Given the description of an element on the screen output the (x, y) to click on. 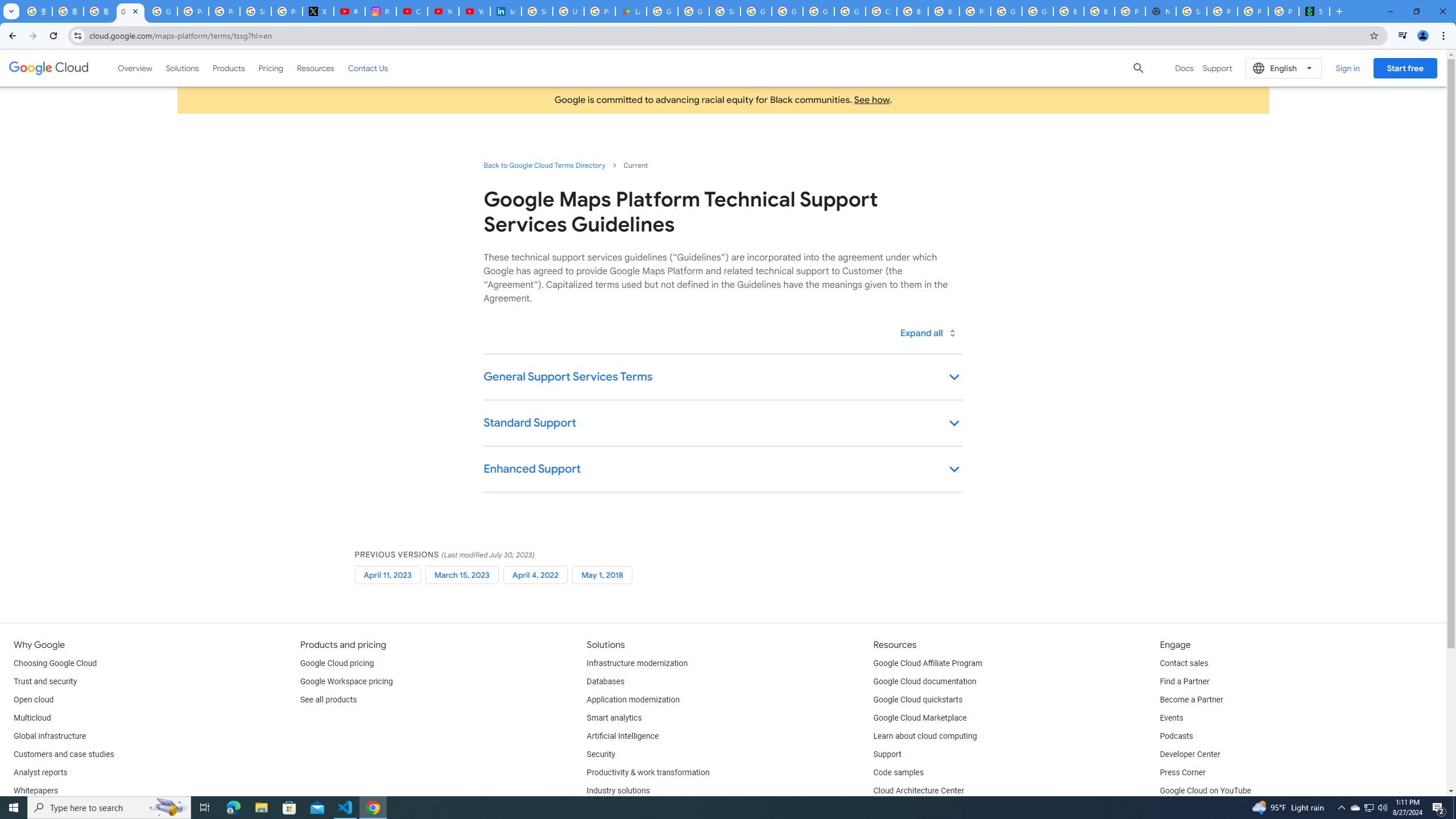
Sign in - Google Accounts (1190, 11)
May 1, 2018 (601, 574)
Whitepapers (35, 791)
Productivity & work transformation (648, 773)
Support (887, 754)
Control your music, videos, and more (1402, 35)
Application modernization (632, 700)
